Given the description of an element on the screen output the (x, y) to click on. 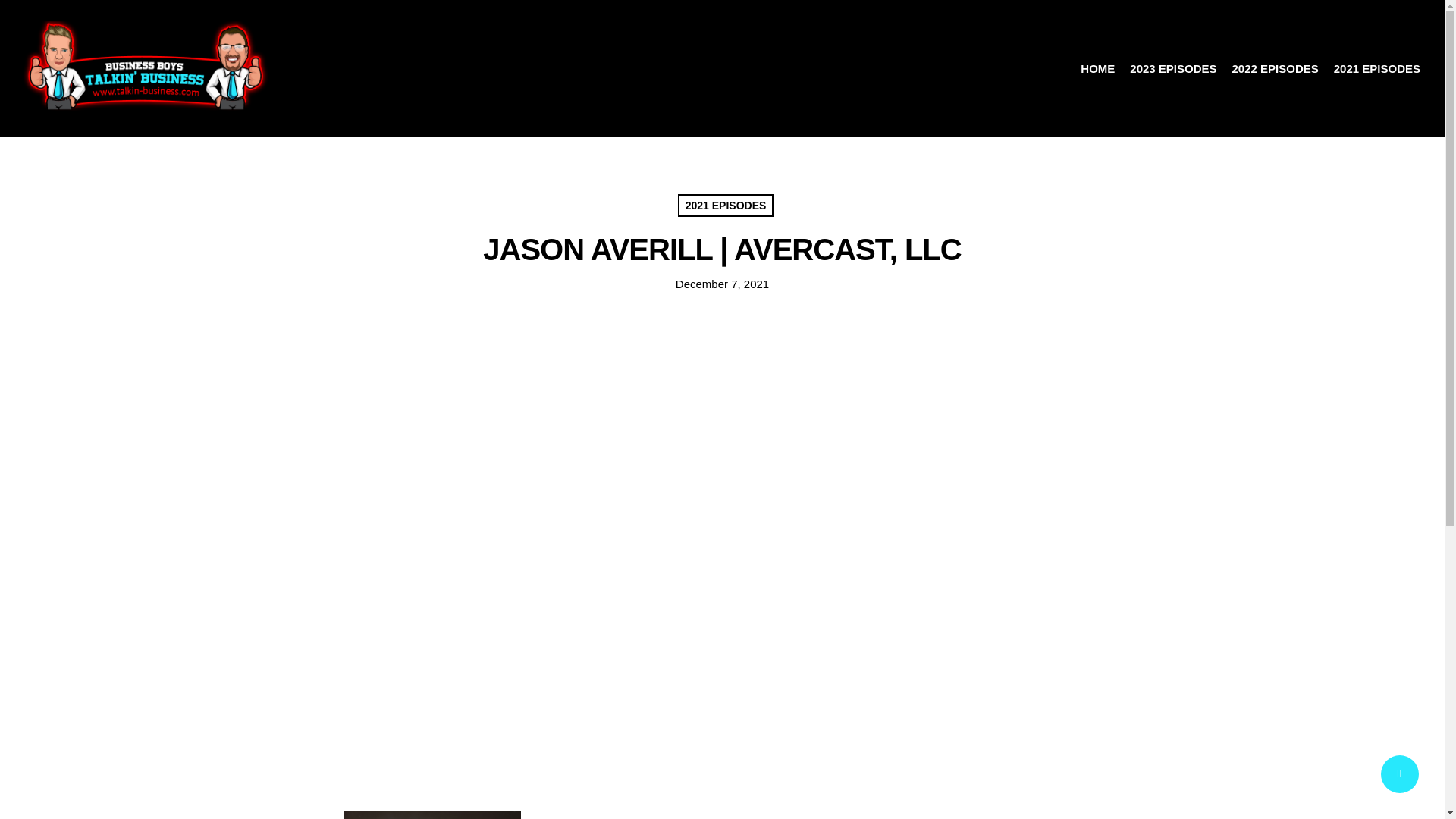
HOME (1097, 68)
2023 EPISODES (1173, 68)
2021 EPISODES (726, 205)
2022 EPISODES (1275, 68)
2021 EPISODES (1377, 68)
